Given the description of an element on the screen output the (x, y) to click on. 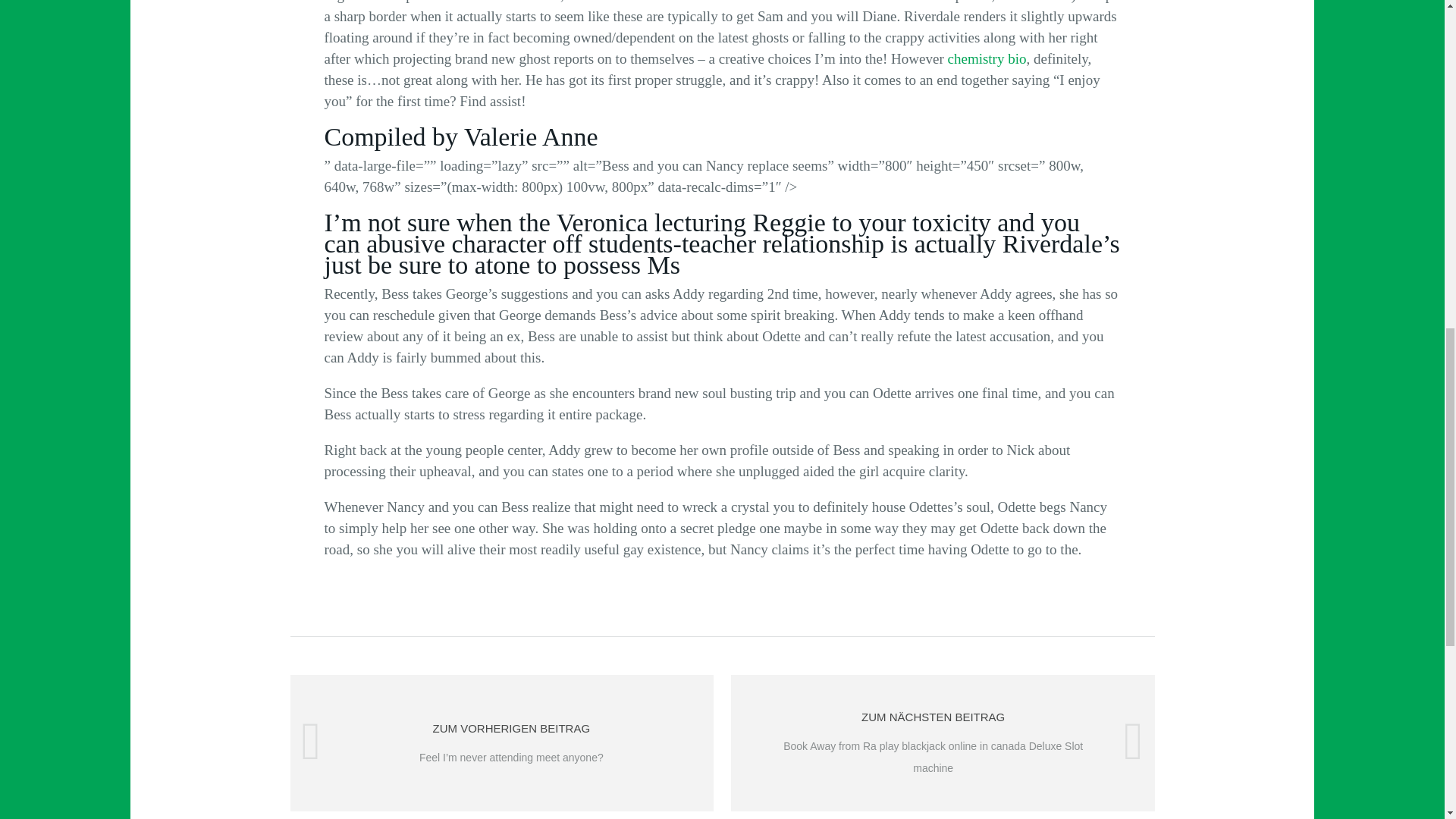
chemistry bio (986, 58)
